Given the description of an element on the screen output the (x, y) to click on. 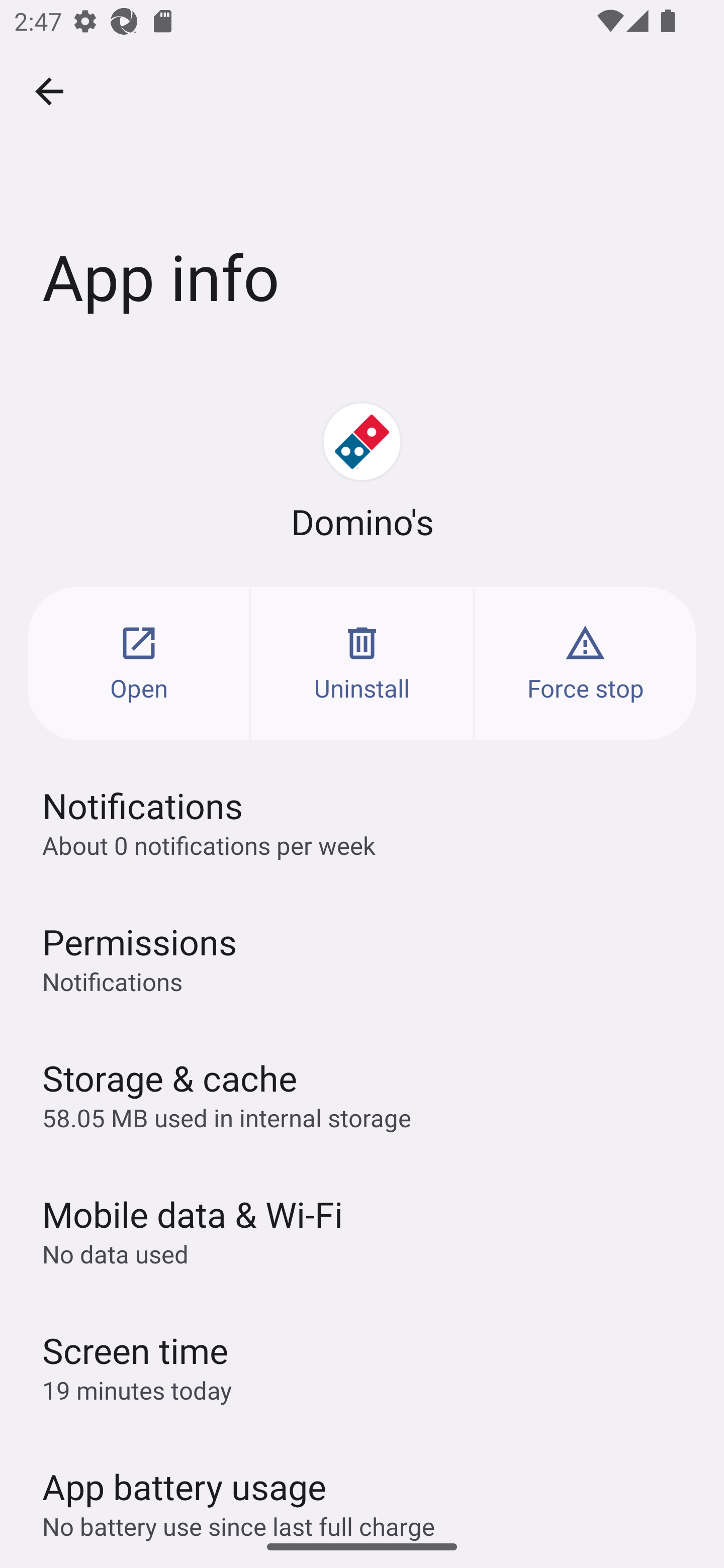
Navigate up (49, 91)
Open (138, 663)
Uninstall (361, 663)
Force stop (584, 663)
Notifications About 0 notifications per week (362, 822)
Permissions Notifications (362, 957)
Storage & cache 58.05 MB used in internal storage (362, 1093)
Mobile data & Wi‑Fi No data used (362, 1229)
Screen time 19 minutes today (362, 1366)
